Given the description of an element on the screen output the (x, y) to click on. 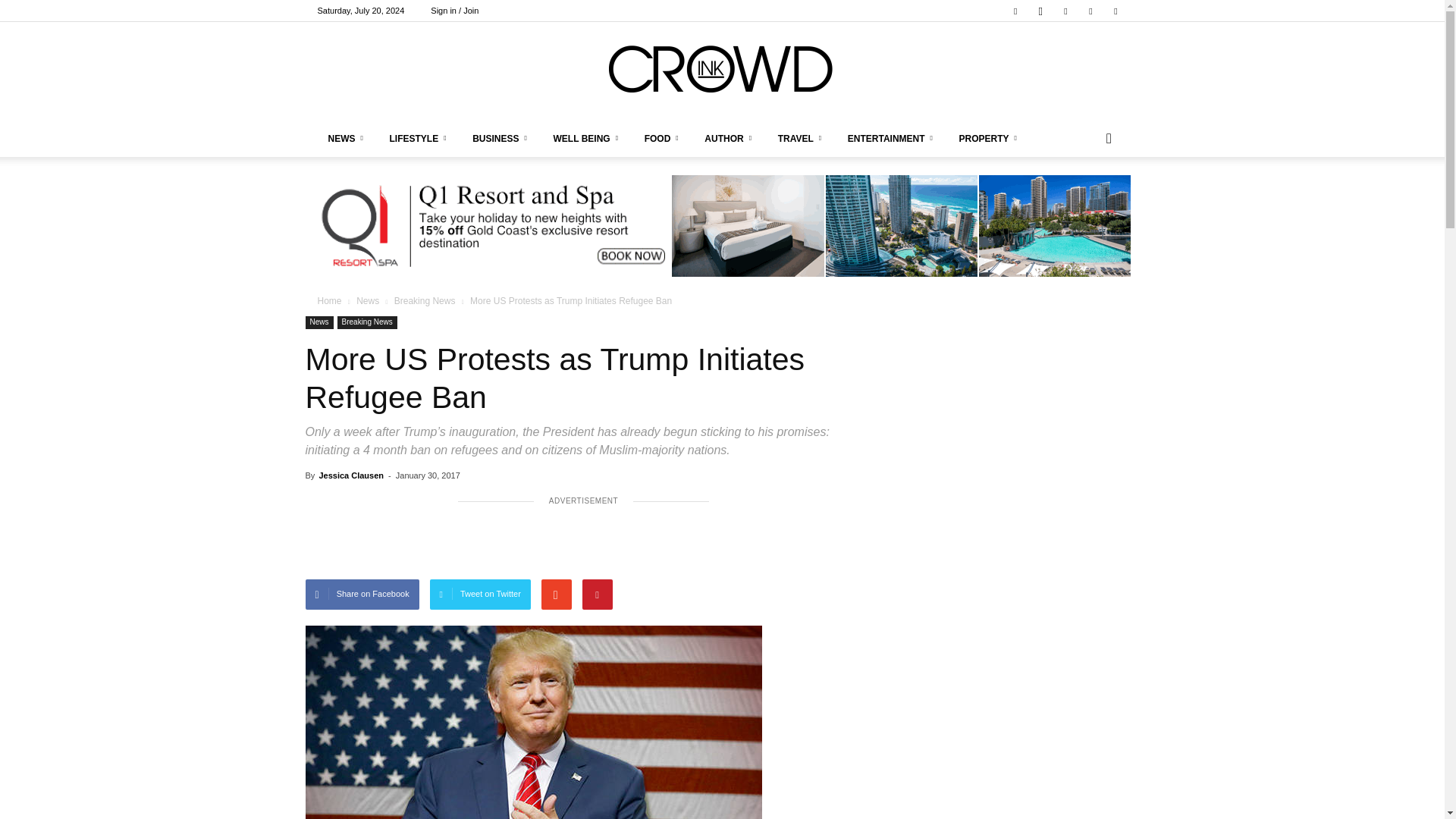
Facebook (1015, 10)
Tumblr (1090, 10)
Pinterest (1065, 10)
Twitter (1114, 10)
Instagram (1040, 10)
